Given the description of an element on the screen output the (x, y) to click on. 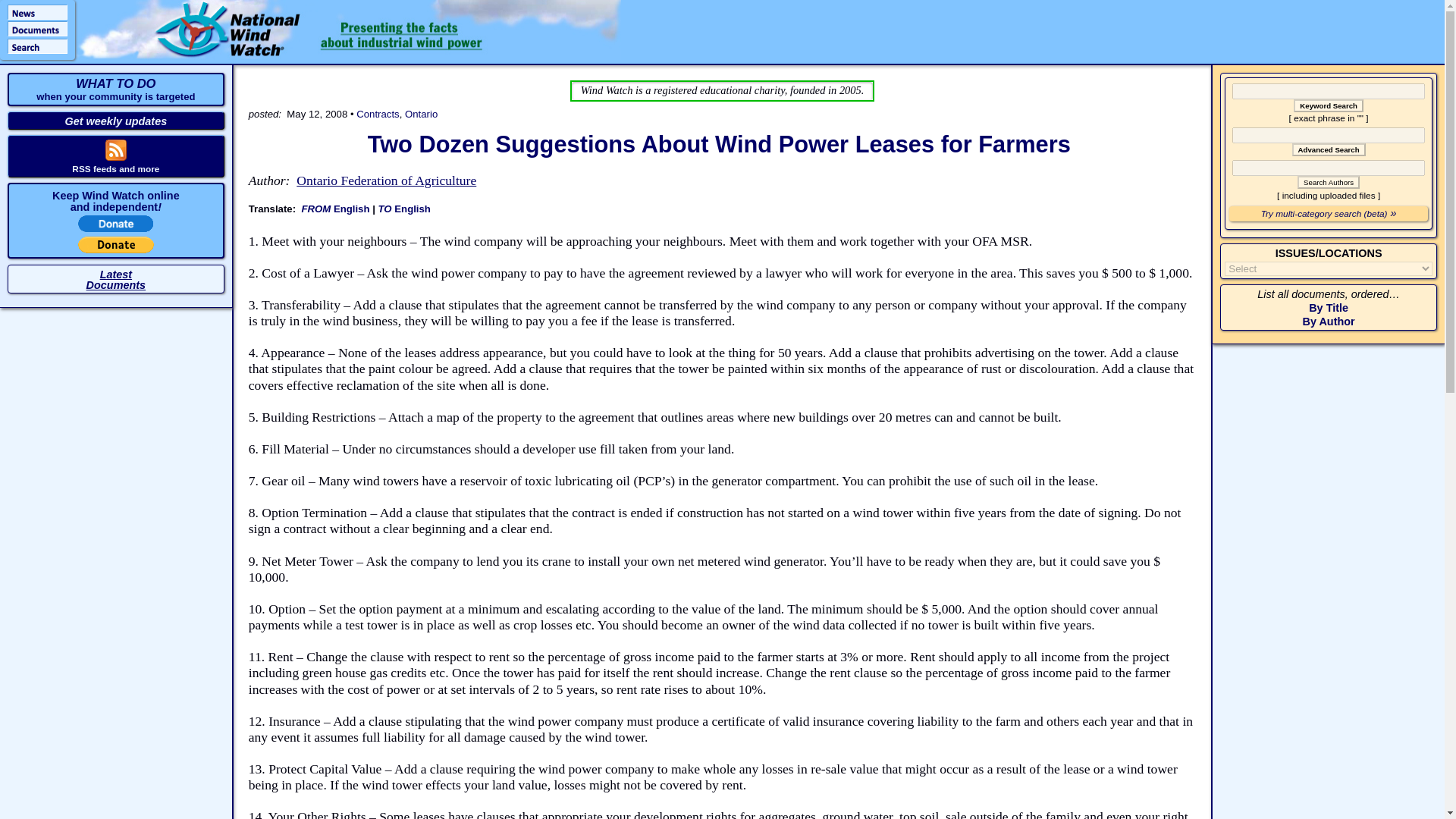
By Author (1329, 321)
Donate via Stripe (116, 227)
Donate via Paypal (116, 249)
Search Authors (1328, 182)
Search Authors (116, 279)
Two Dozen Suggestions About Wind Power Leases for Farmers (1328, 182)
List all work by Ontario Federation of Agriculture (719, 144)
By Title (386, 180)
